Given the description of an element on the screen output the (x, y) to click on. 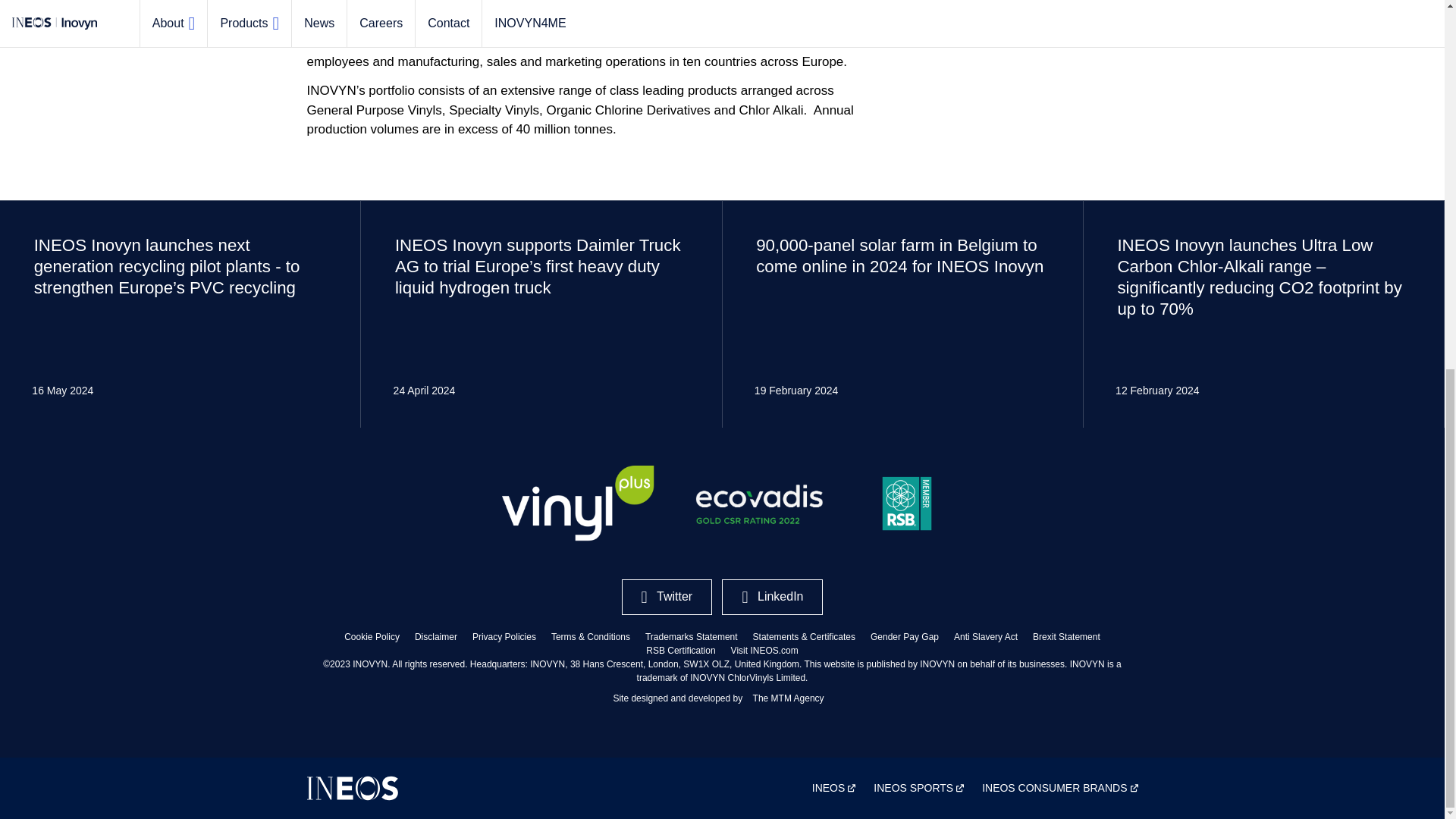
Disclaimer (435, 636)
Twitter (667, 597)
LinkedIn (772, 597)
Cookie Policy (371, 636)
